Given the description of an element on the screen output the (x, y) to click on. 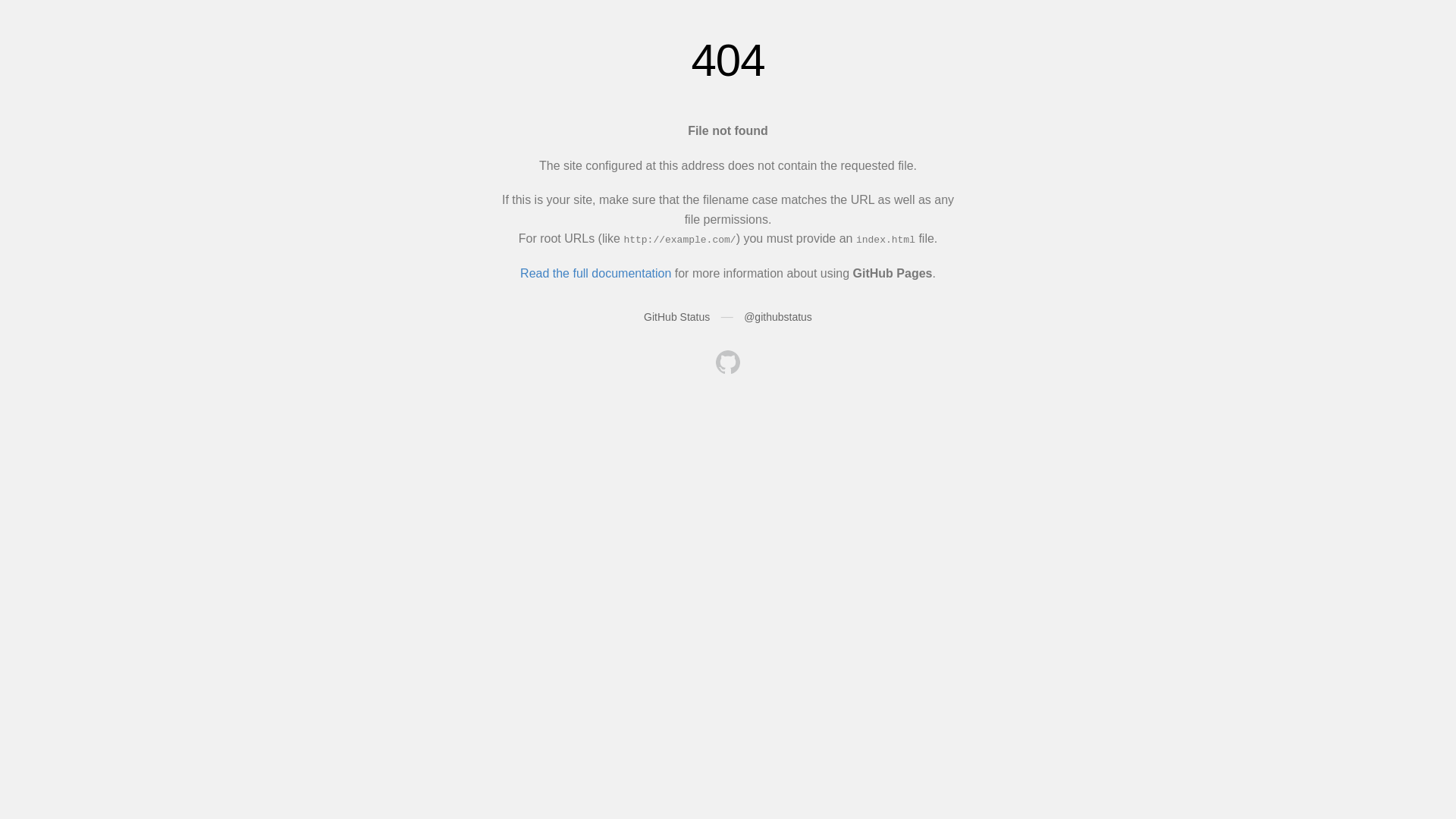
GitHub Status Element type: text (676, 316)
@githubstatus Element type: text (777, 316)
Read the full documentation Element type: text (595, 272)
